Given the description of an element on the screen output the (x, y) to click on. 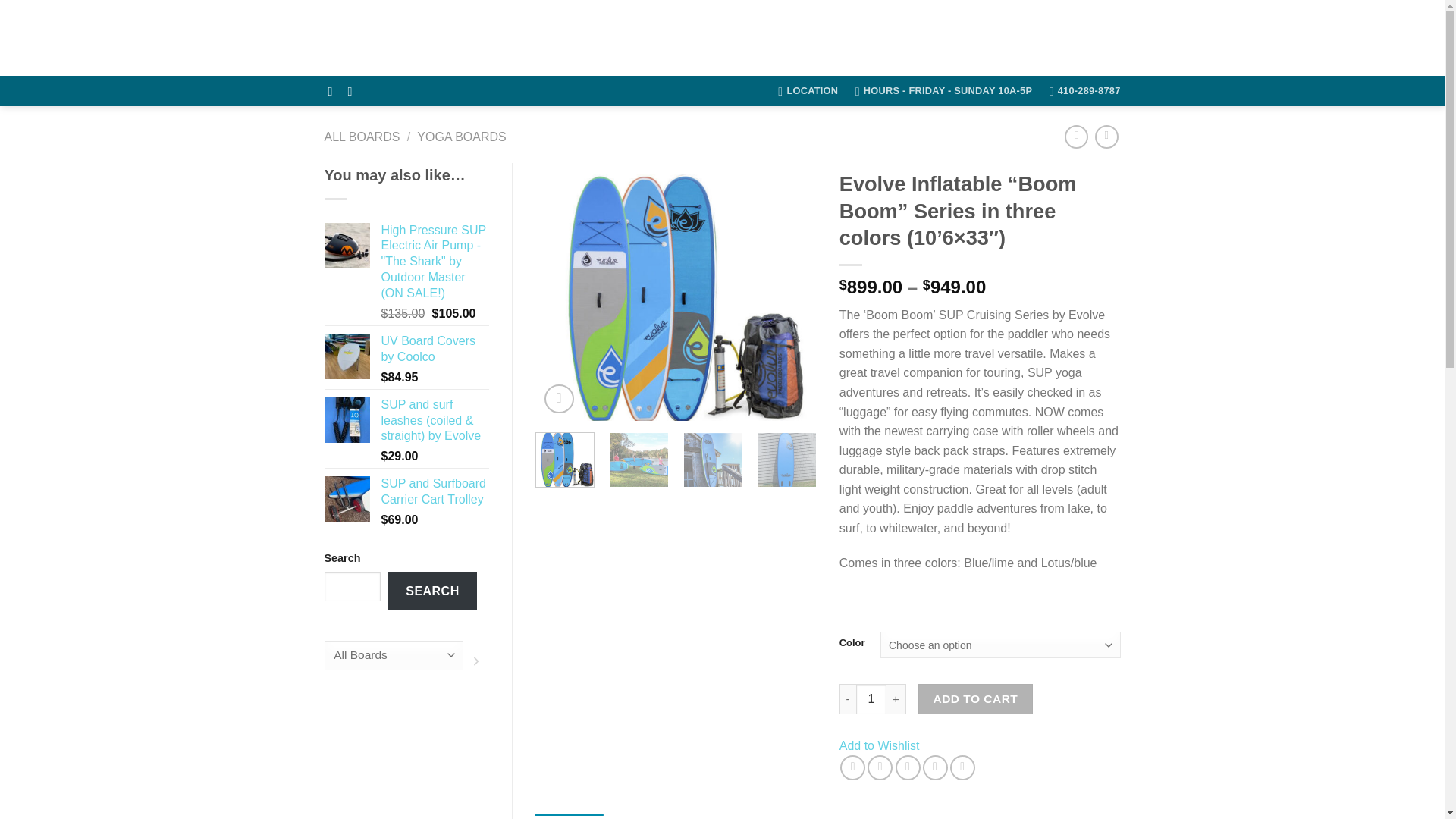
ART (753, 37)
Share on Facebook (852, 767)
SUP and Surfboard Carrier Cart Trolley (434, 491)
410-289-8787 (1085, 91)
1 (871, 698)
SHOP (707, 37)
Follow on Instagram (353, 90)
FIND US (863, 37)
UV Board Covers by Coolco (434, 349)
Zoom (558, 399)
Follow on Facebook (333, 90)
9808 Stephen Decatur Hwy, Ocean City MD 21842 (807, 91)
Hours -  Friday - Sunday 10a-5p  (944, 91)
PADDLE (804, 37)
